Given the description of an element on the screen output the (x, y) to click on. 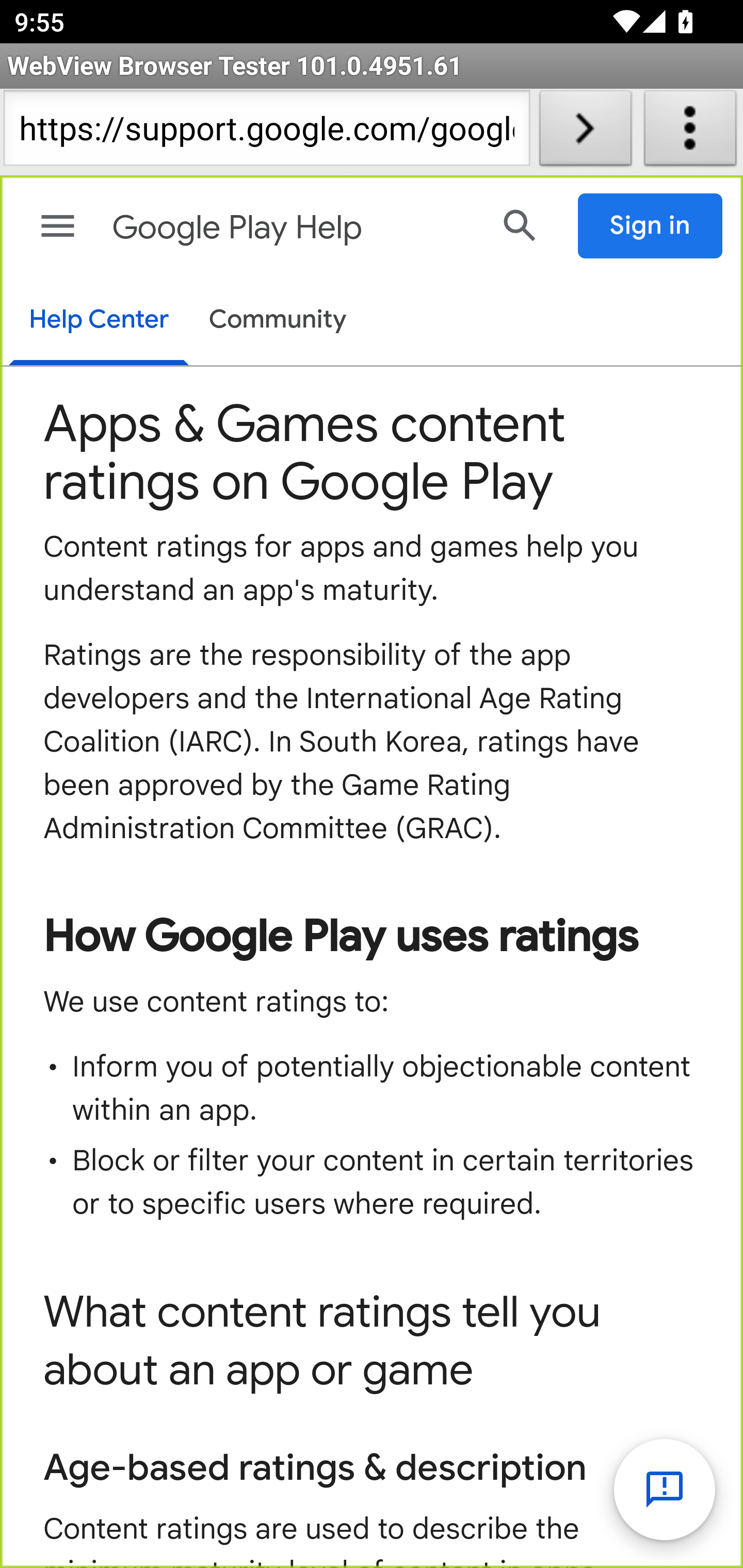
Load URL (585, 132)
About WebView (690, 132)
Main menu (58, 226)
Google Play Help (292, 227)
Search Help Center (519, 225)
Sign in (650, 226)
Help Center (98, 320)
Community (277, 320)
